Given the description of an element on the screen output the (x, y) to click on. 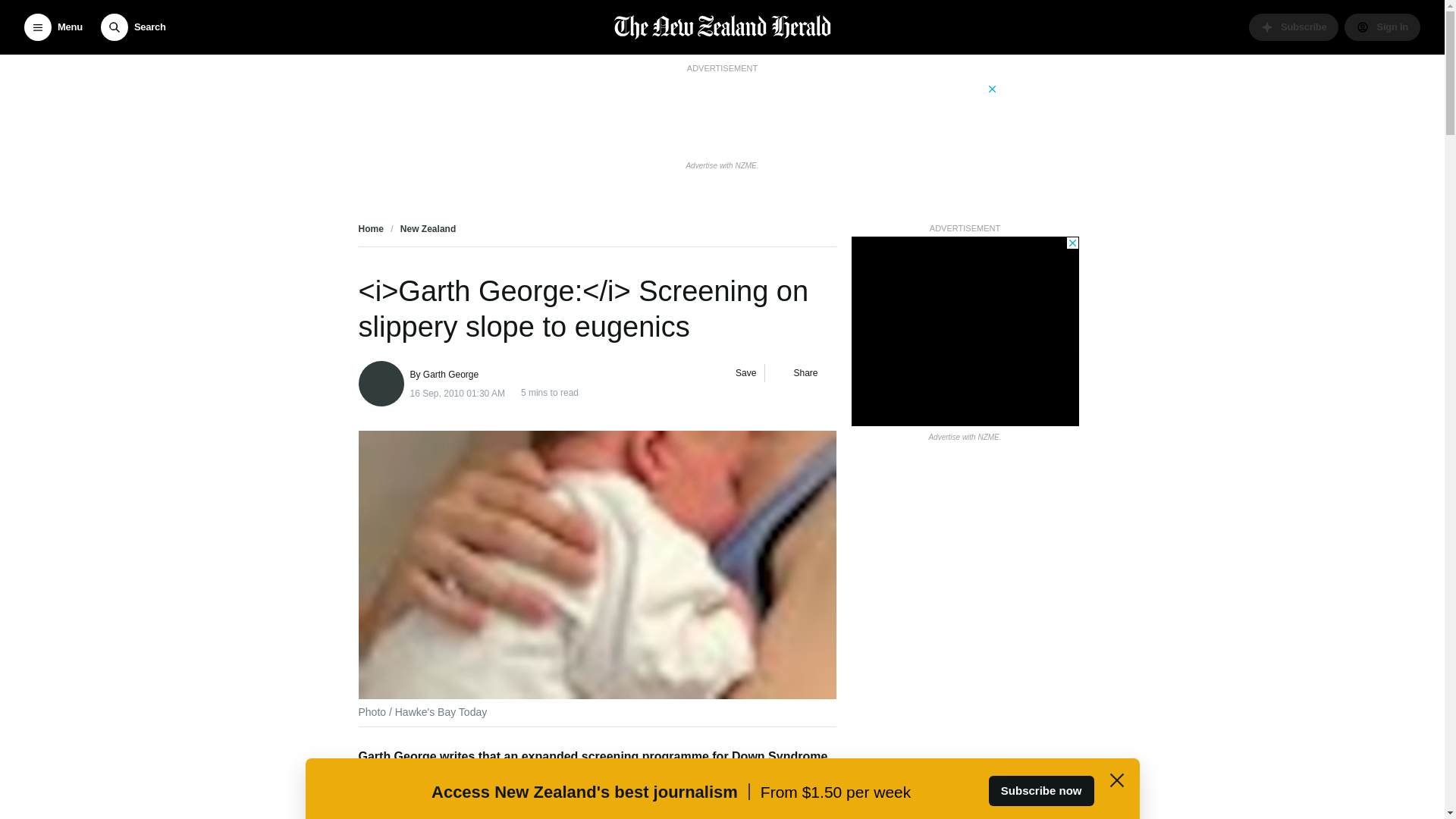
Subscribe (1294, 26)
Menu (53, 26)
3rd party ad content (964, 330)
Manage your account (1382, 26)
3rd party ad content (721, 115)
Search (132, 26)
Sign In (1382, 26)
